Given the description of an element on the screen output the (x, y) to click on. 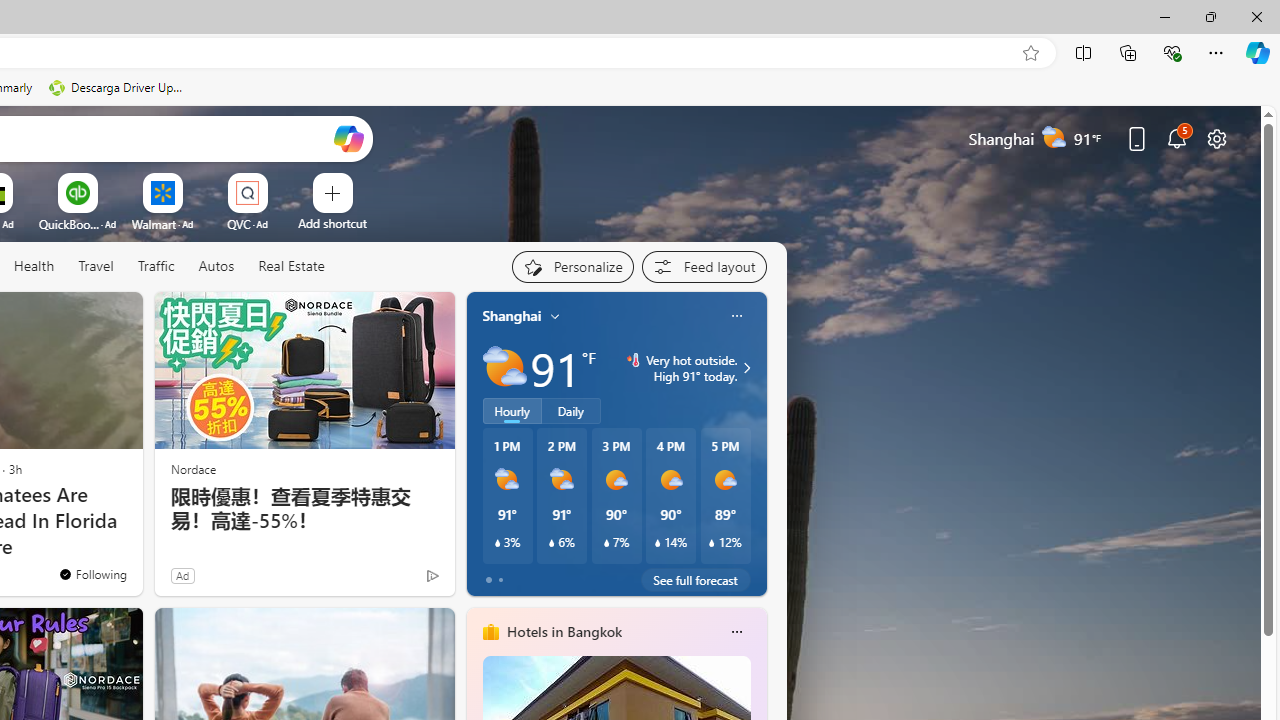
Traffic (155, 265)
Real Estate (291, 265)
Add a site (332, 223)
Traffic (155, 267)
